Given the description of an element on the screen output the (x, y) to click on. 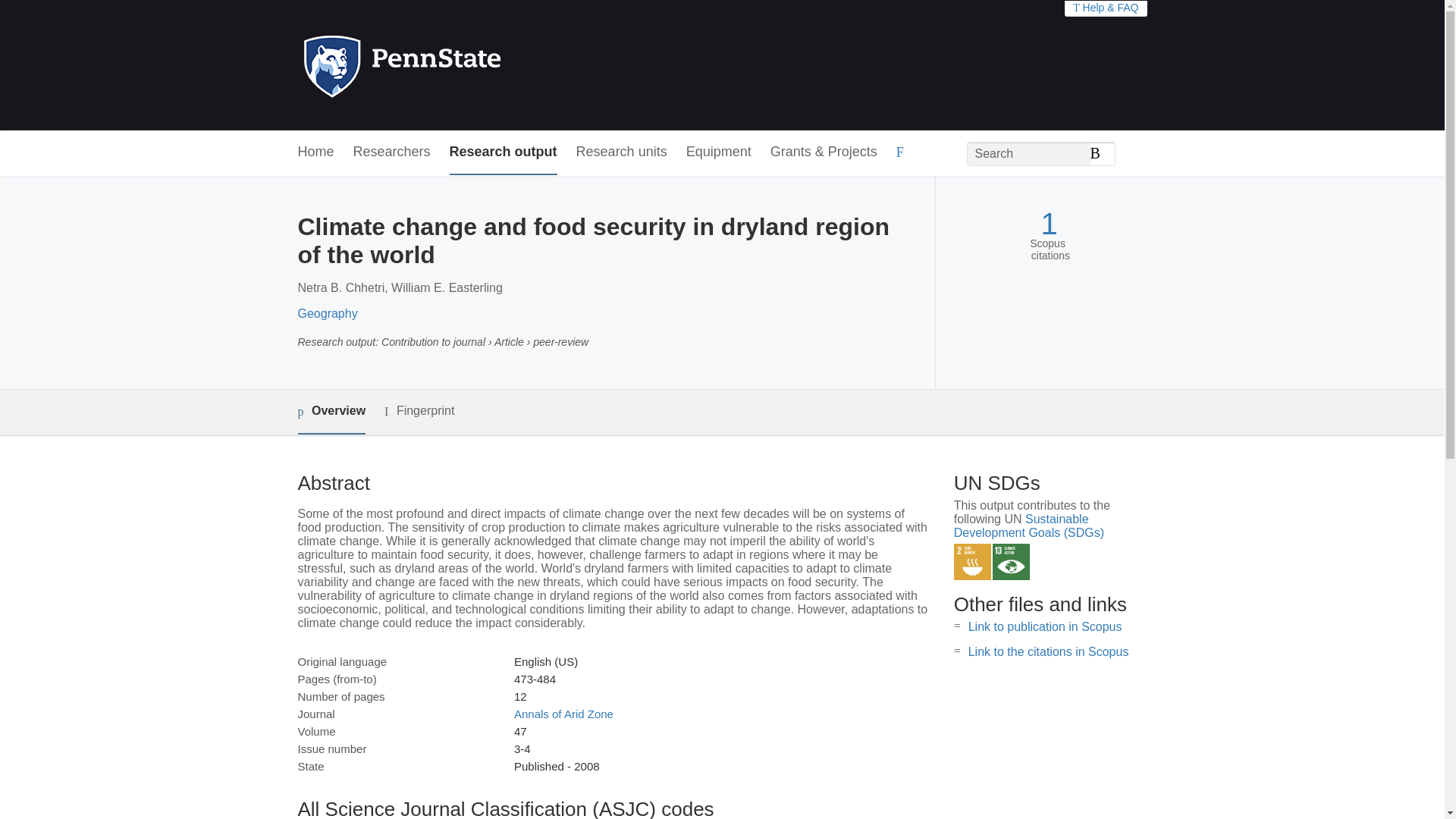
Equipment (718, 152)
Fingerprint (419, 411)
Research units (621, 152)
Geography (326, 313)
Link to the citations in Scopus (1048, 651)
Research output (503, 152)
Home (315, 152)
Penn State Home (467, 65)
1 (1049, 223)
SDG 2 - Zero Hunger (972, 561)
Link to publication in Scopus (1045, 626)
Overview (331, 411)
SDG 13 - Climate Action (1010, 561)
Researchers (391, 152)
